Given the description of an element on the screen output the (x, y) to click on. 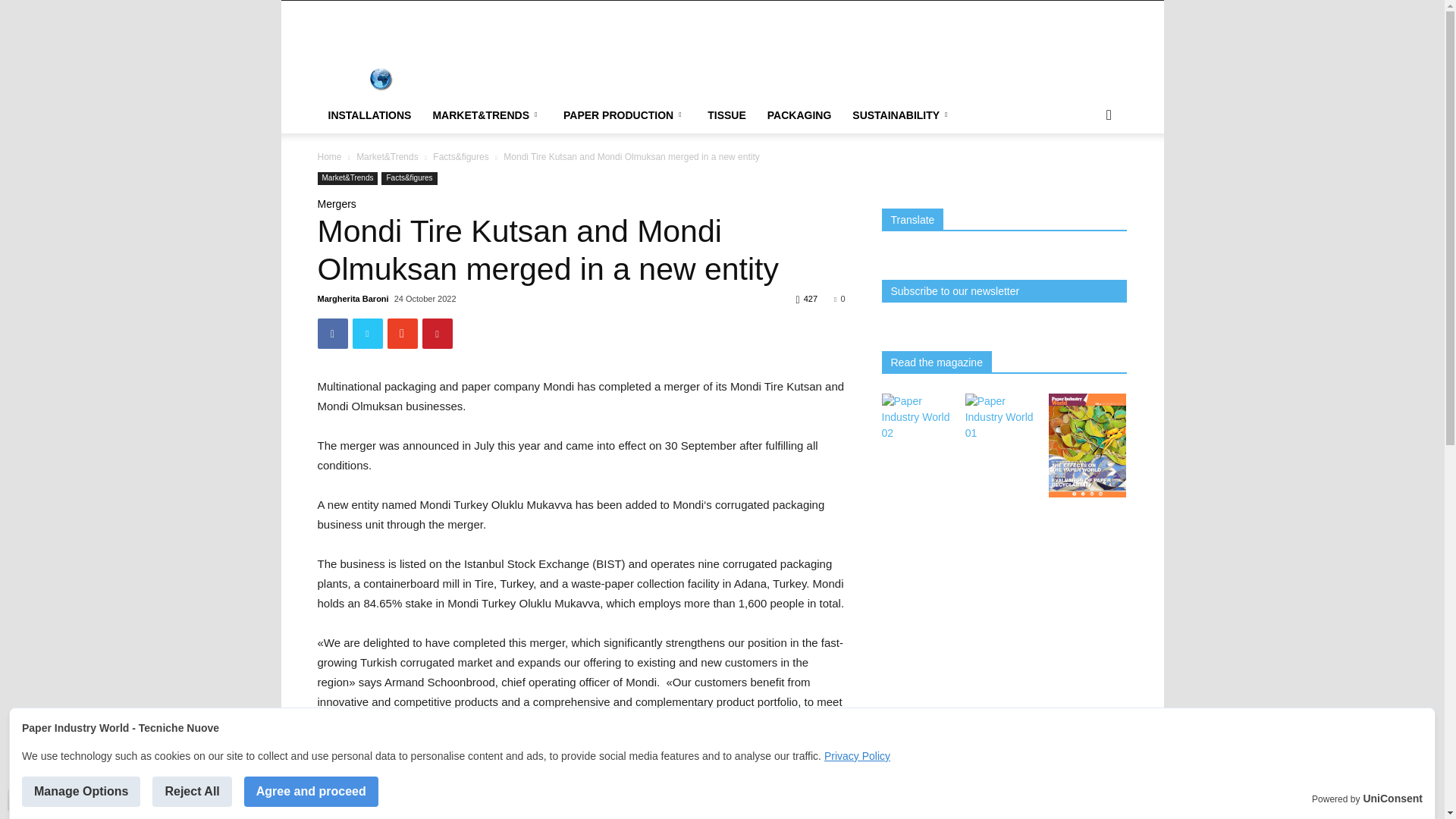
Privacy Policy (856, 756)
Paper Industry World (1086, 493)
UniConsent Consent Manager (1392, 798)
Manage Options (80, 791)
Paper Industry World (919, 432)
Manage Consent (18, 799)
INSTALLATIONS (369, 115)
Agree and proceed (311, 791)
Paper Industry World (1003, 432)
Posts by Margherita Baroni (352, 298)
PAPER PRODUCTION (625, 115)
TISSUE (727, 115)
UniConsent (1392, 798)
Reject All (191, 791)
